Given the description of an element on the screen output the (x, y) to click on. 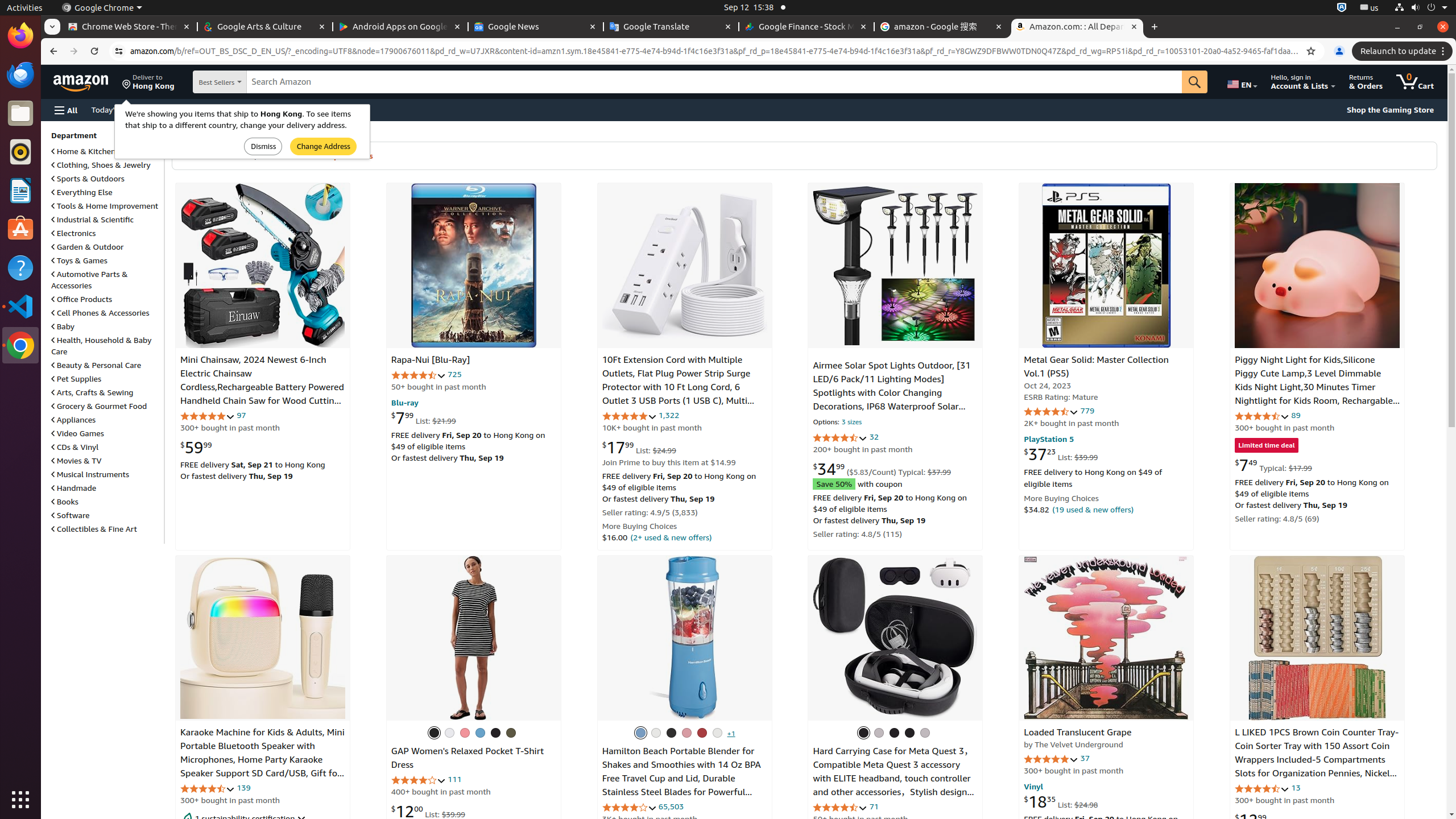
$17.99 List: $24.99 Element type: link (638, 446)
Google Chrome Element type: push-button (20, 344)
Sell Element type: link (328, 109)
+1 Element type: link (730, 732)
4.6 out of 5 stars Element type: push-button (1050, 411)
